Given the description of an element on the screen output the (x, y) to click on. 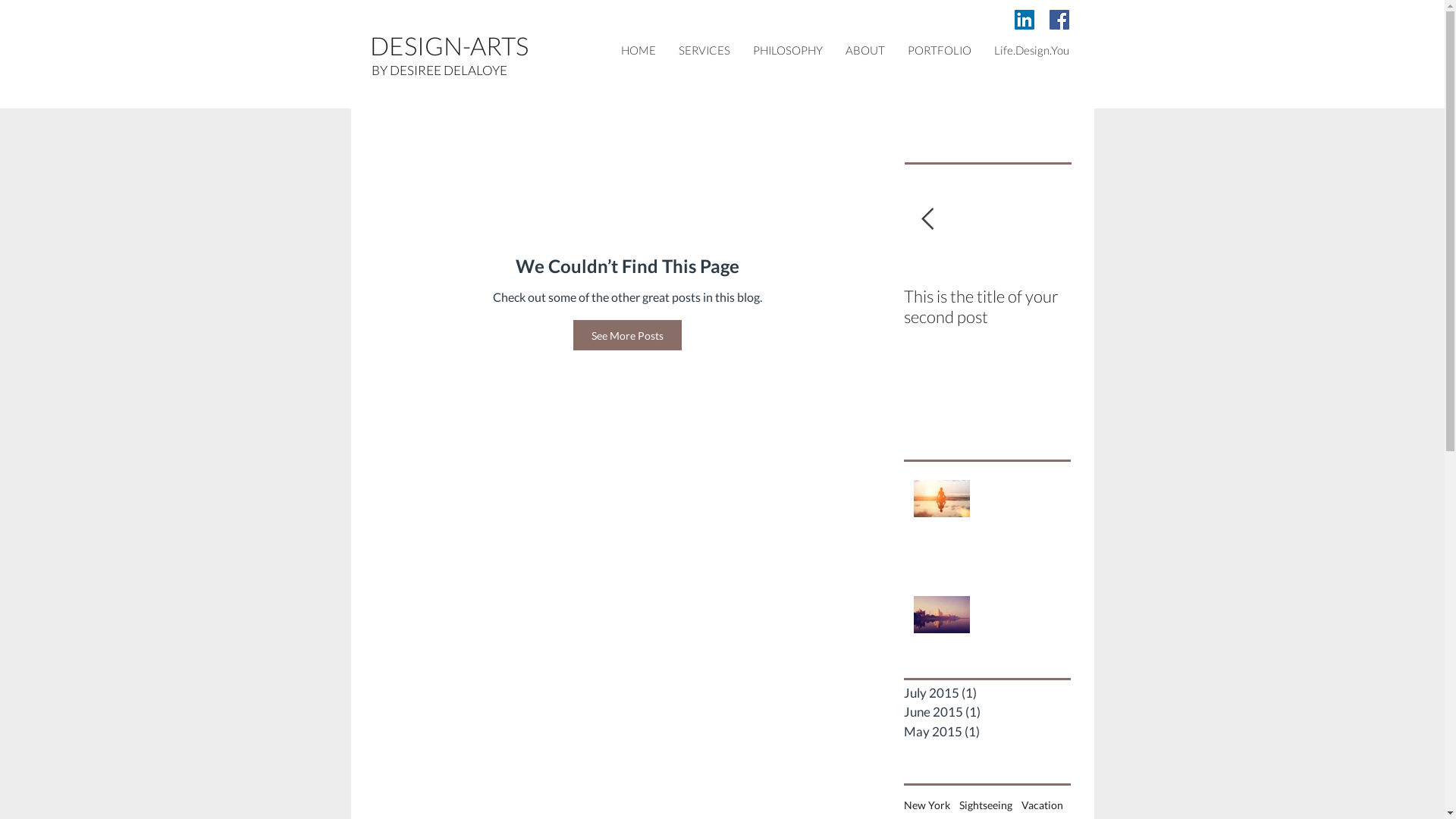
See More Posts Element type: text (627, 368)
SERVICES Element type: text (703, 49)
This is the title of your third post Element type: text (1020, 658)
This is the title of your second post Element type: text (992, 594)
This is the title of your first post Element type: text (1020, 542)
May 2015 (1) Element type: text (983, 765)
This is the title of your second post Element type: text (1153, 338)
PHILOSOPHY Element type: text (787, 49)
June 2015 (1) Element type: text (983, 745)
This is the title of your first post Element type: text (986, 338)
Life.Design.You Element type: text (1031, 49)
DESIGN-ARTS Element type: text (420, 61)
ABOUT Element type: text (866, 49)
July 2015 (1) Element type: text (983, 726)
PORTFOLIO Element type: text (939, 49)
HOME Element type: text (637, 49)
BY DESIREE DELALOYE Element type: text (444, 101)
